Given the description of an element on the screen output the (x, y) to click on. 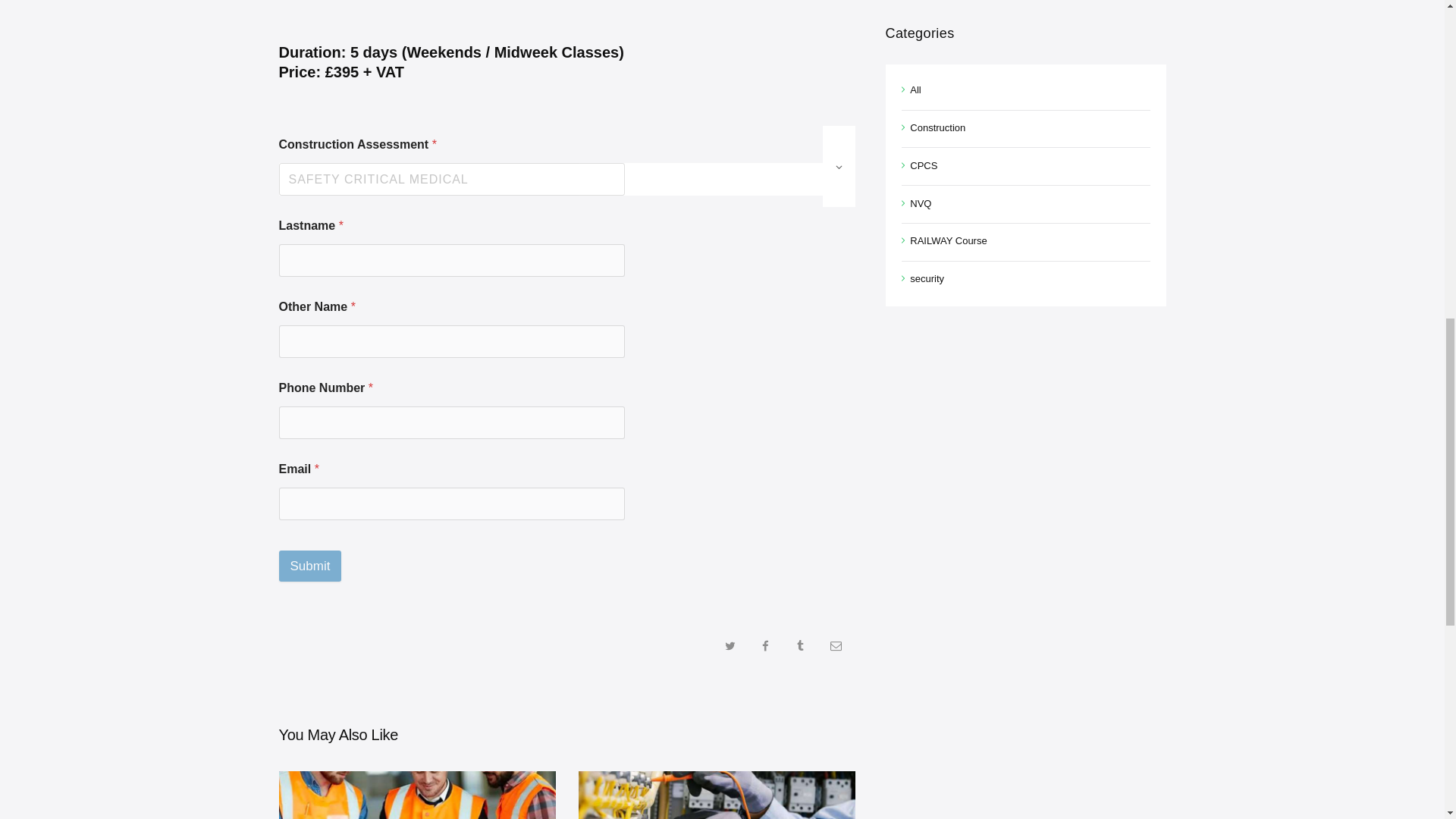
Submit (310, 565)
